Given the description of an element on the screen output the (x, y) to click on. 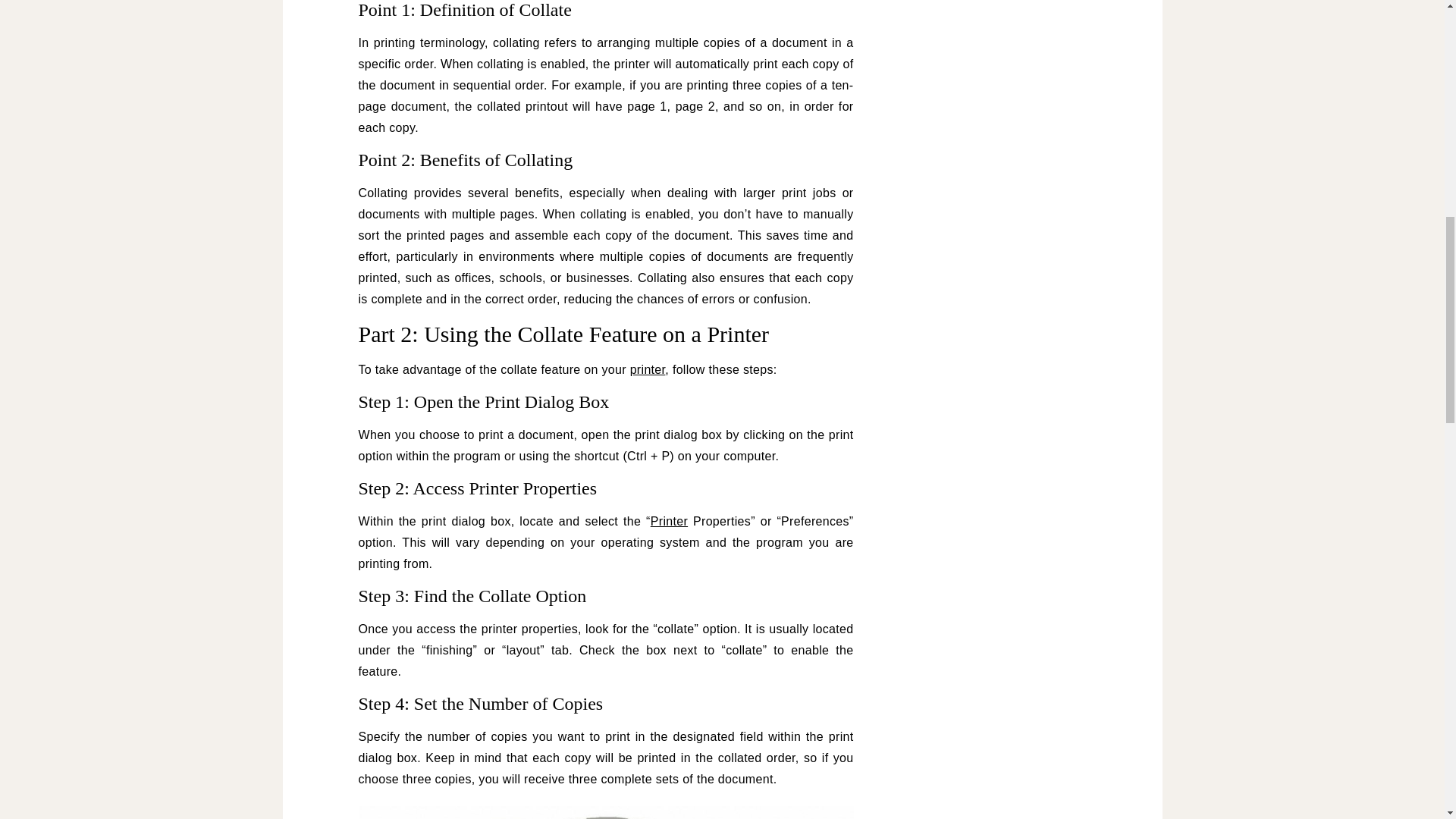
Printer (668, 521)
printer (647, 369)
